Given the description of an element on the screen output the (x, y) to click on. 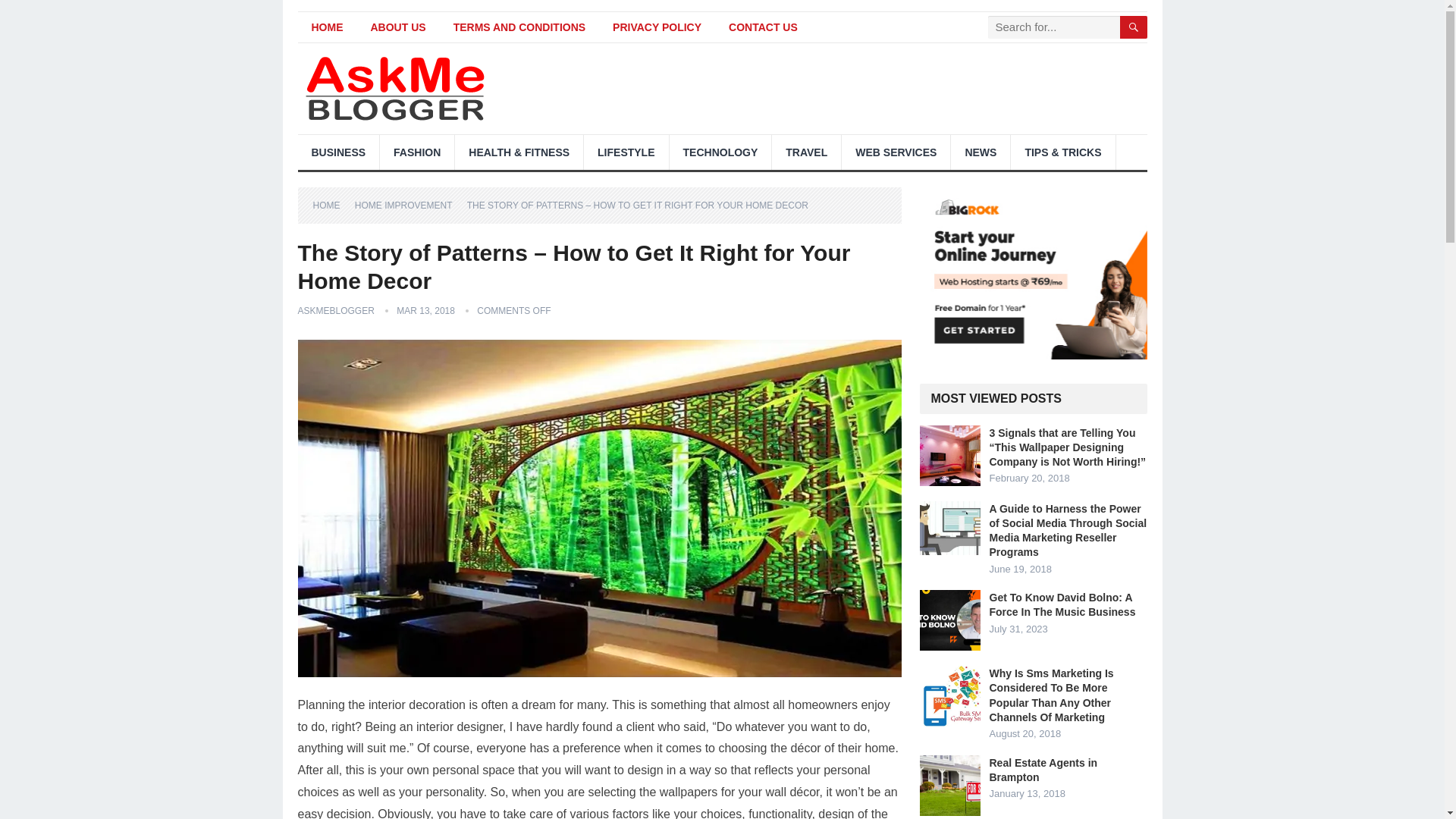
TERMS AND CONDITIONS (518, 27)
LIFESTYLE (625, 152)
TRAVEL (806, 152)
HOME (326, 27)
WEB SERVICES (895, 152)
TECHNOLOGY (720, 152)
FASHION (417, 152)
ABOUT US (397, 27)
CONTACT US (762, 27)
View all posts in Home Improvement (409, 204)
